Given the description of an element on the screen output the (x, y) to click on. 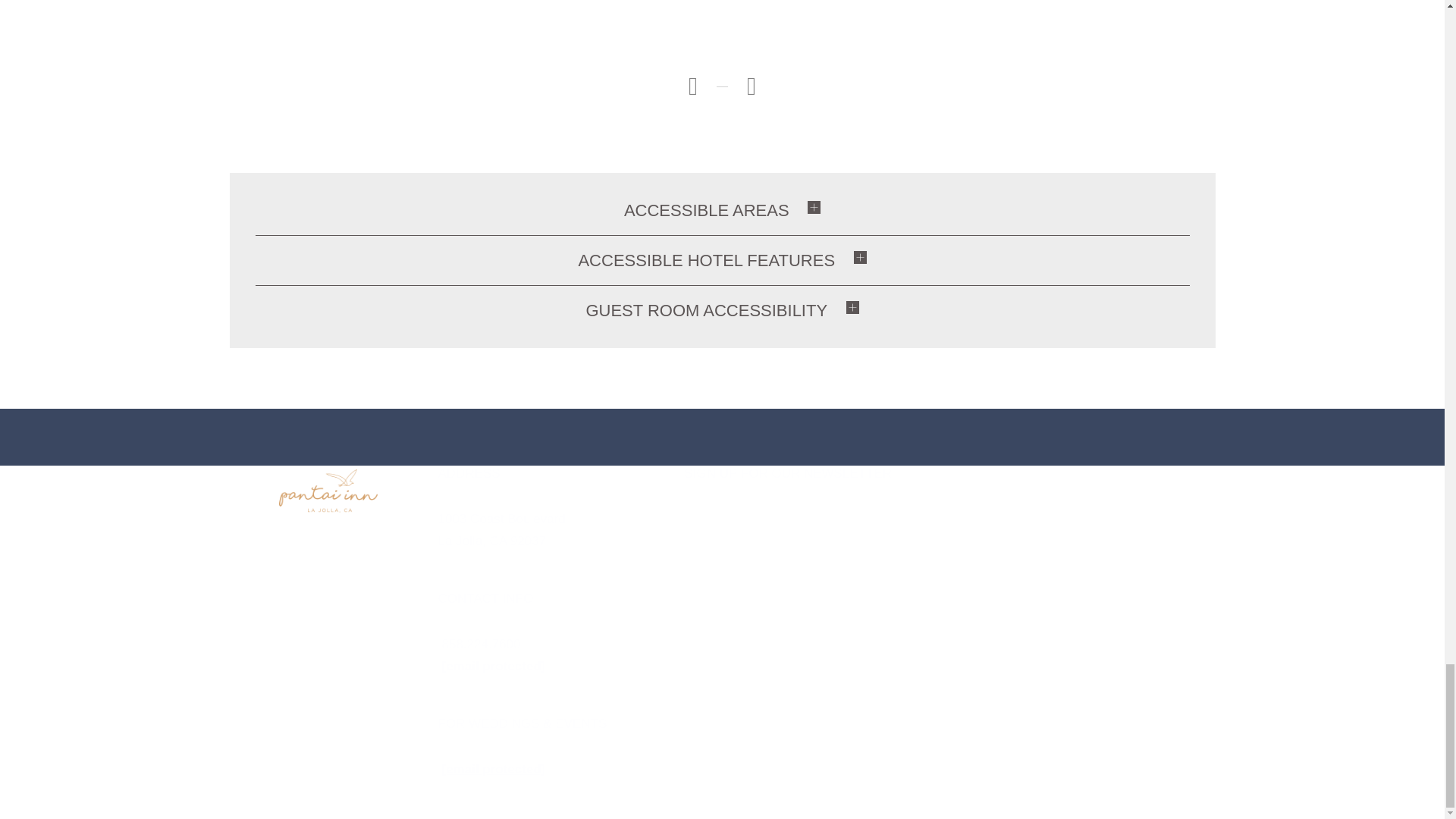
858.224.7600 (480, 644)
ACCESSIBLE HOTEL FEATURES (712, 260)
GUEST ROOM ACCESSIBILITY (712, 310)
ACCESSIBLE AREAS (713, 210)
